Given the description of an element on the screen output the (x, y) to click on. 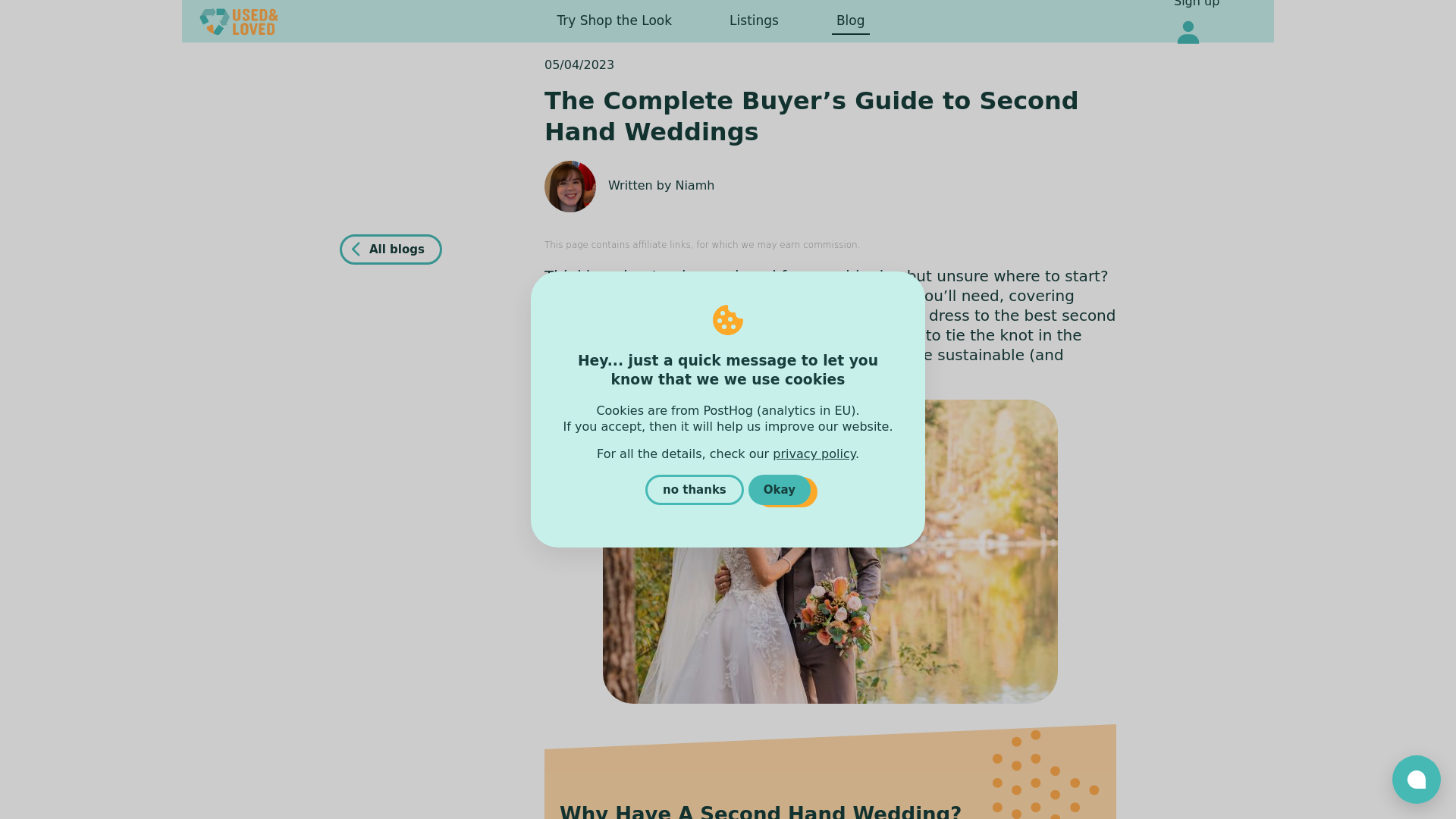
Listings (754, 21)
Used and Loved (242, 20)
Try Shop the Look (614, 21)
Blog (850, 21)
Okay (779, 490)
Sign up (1196, 6)
privacy policy (814, 453)
no thanks (694, 490)
All blogs (390, 249)
